Given the description of an element on the screen output the (x, y) to click on. 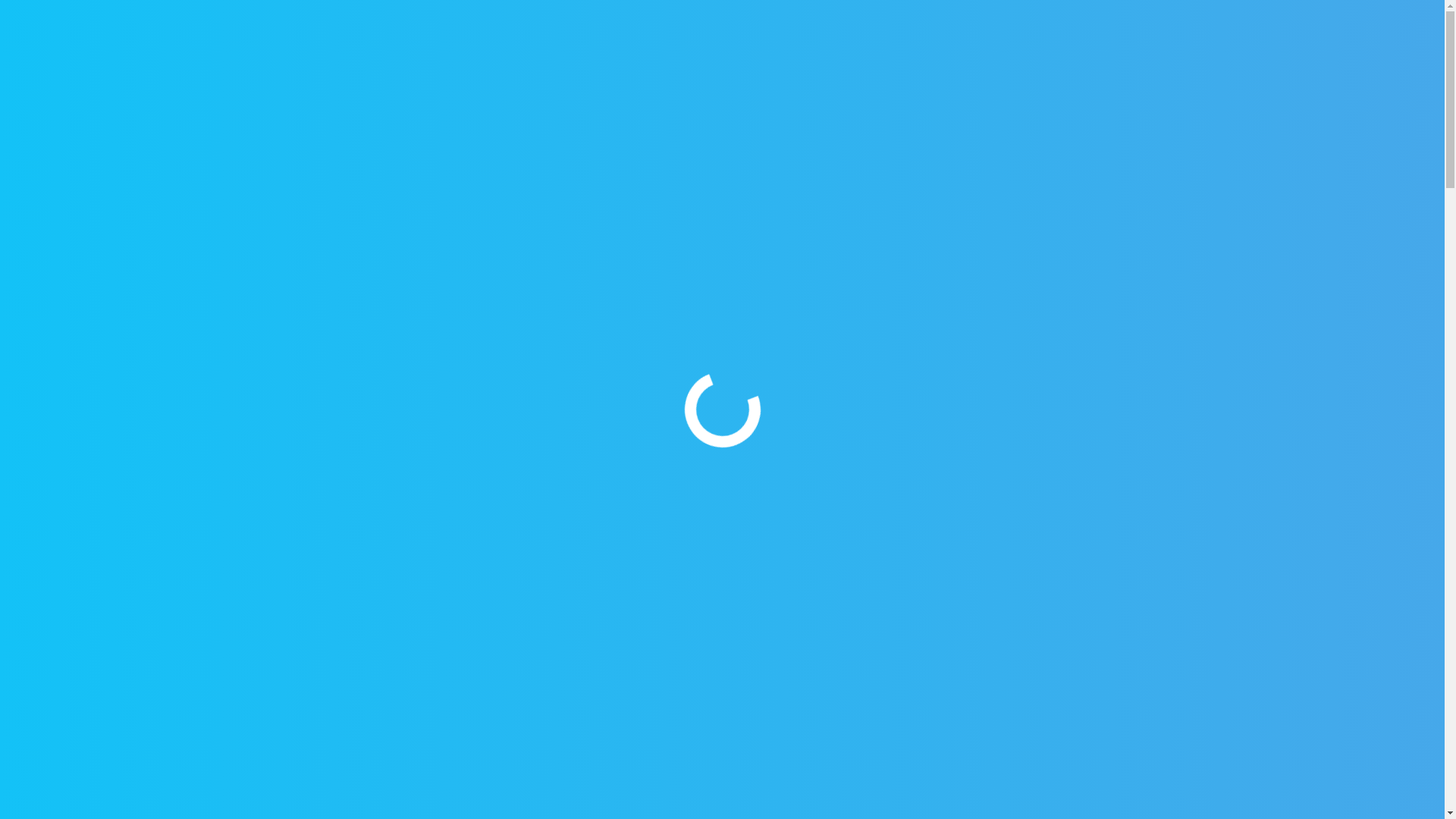
Go (1194, 66)
Support (207, 16)
Admin (686, 554)
Home (306, 332)
Packages and Pricing (1071, 67)
Go (473, 527)
Search here (374, 527)
Request Callback (99, 16)
Contact (1173, 67)
lakewood eros escort (438, 332)
